Given the description of an element on the screen output the (x, y) to click on. 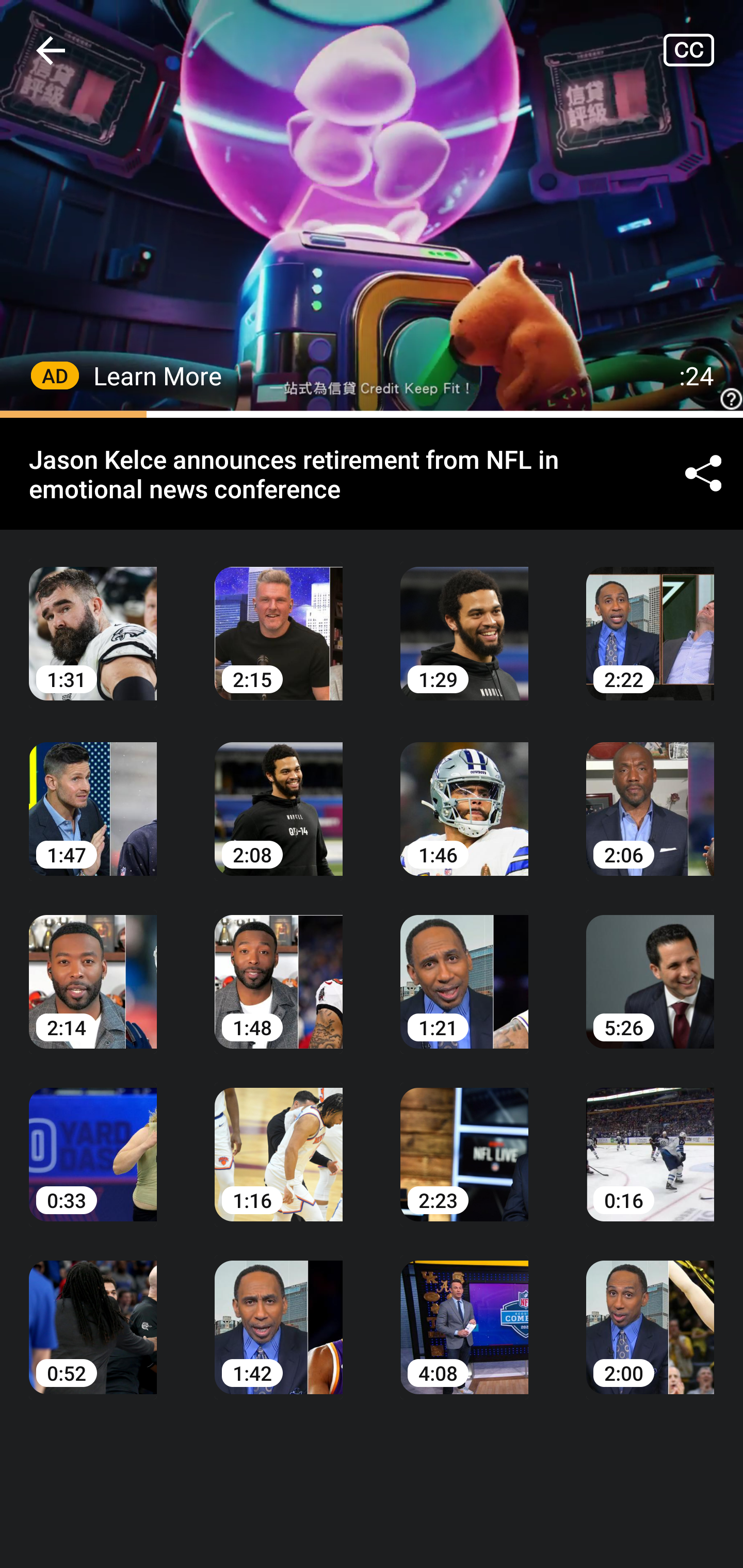
help_outline_white_24dp_with_3px_trbl_padding (371, 209)
Navigate up (50, 50)
Closed captions  (703, 49)
Learn More (157, 375)
help_outline_white_24dp_with_3px_trbl_padding (728, 399)
Share © (703, 474)
1:31 (92, 618)
2:15 (278, 618)
1:29 (464, 618)
2:22 (650, 618)
1:47 (92, 794)
2:08 (278, 794)
1:46 (464, 794)
2:06 (650, 794)
2:14 (92, 967)
1:48 (278, 967)
1:21 (464, 967)
5:26 (650, 967)
0:33 (92, 1139)
1:16 (278, 1139)
2:23 (464, 1139)
0:16 (650, 1139)
0:52 (92, 1312)
1:42 (278, 1312)
4:08 (464, 1312)
2:00 (650, 1312)
